Given the description of an element on the screen output the (x, y) to click on. 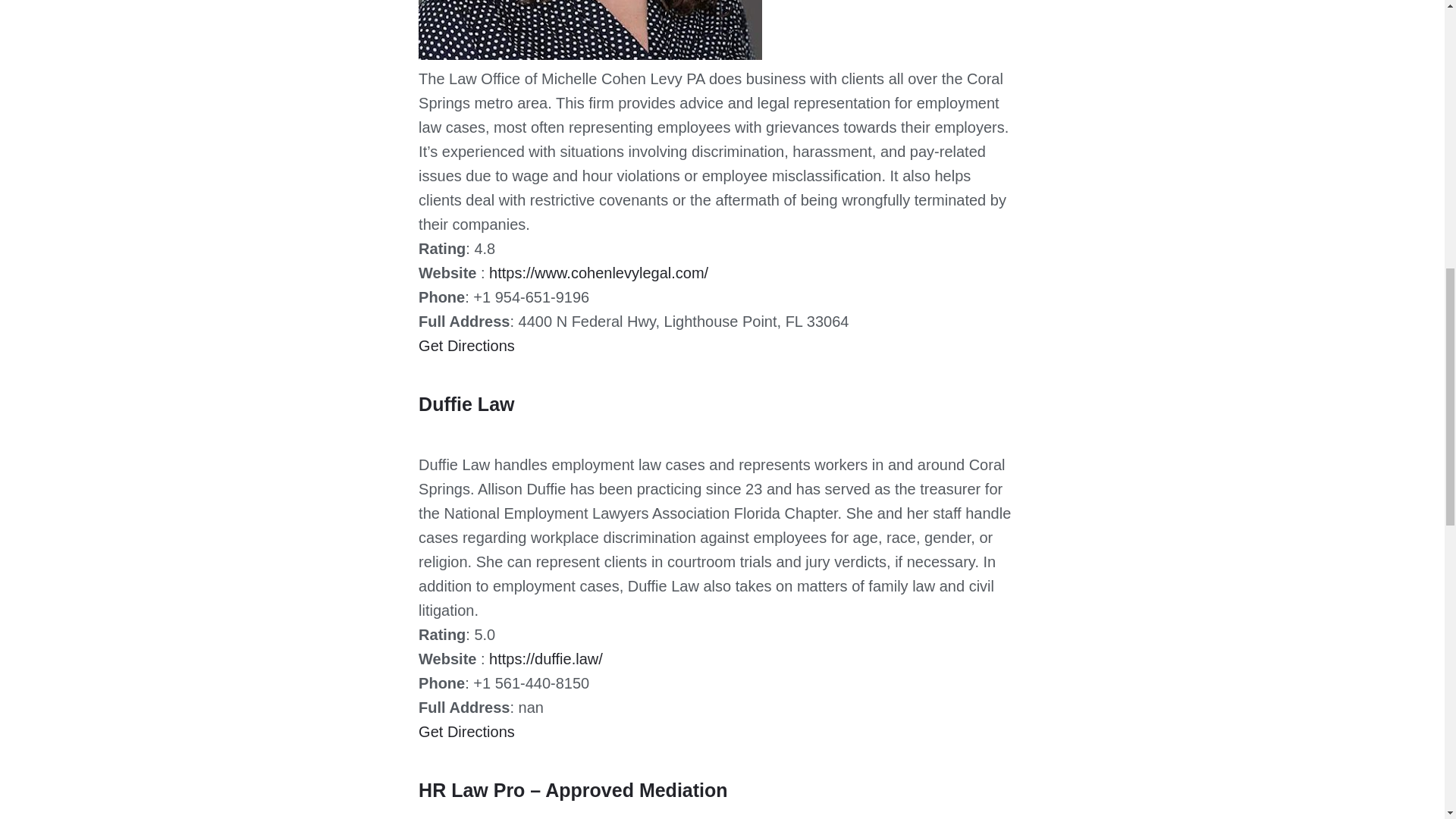
Get Directions (467, 731)
Get Directions (467, 344)
